Given the description of an element on the screen output the (x, y) to click on. 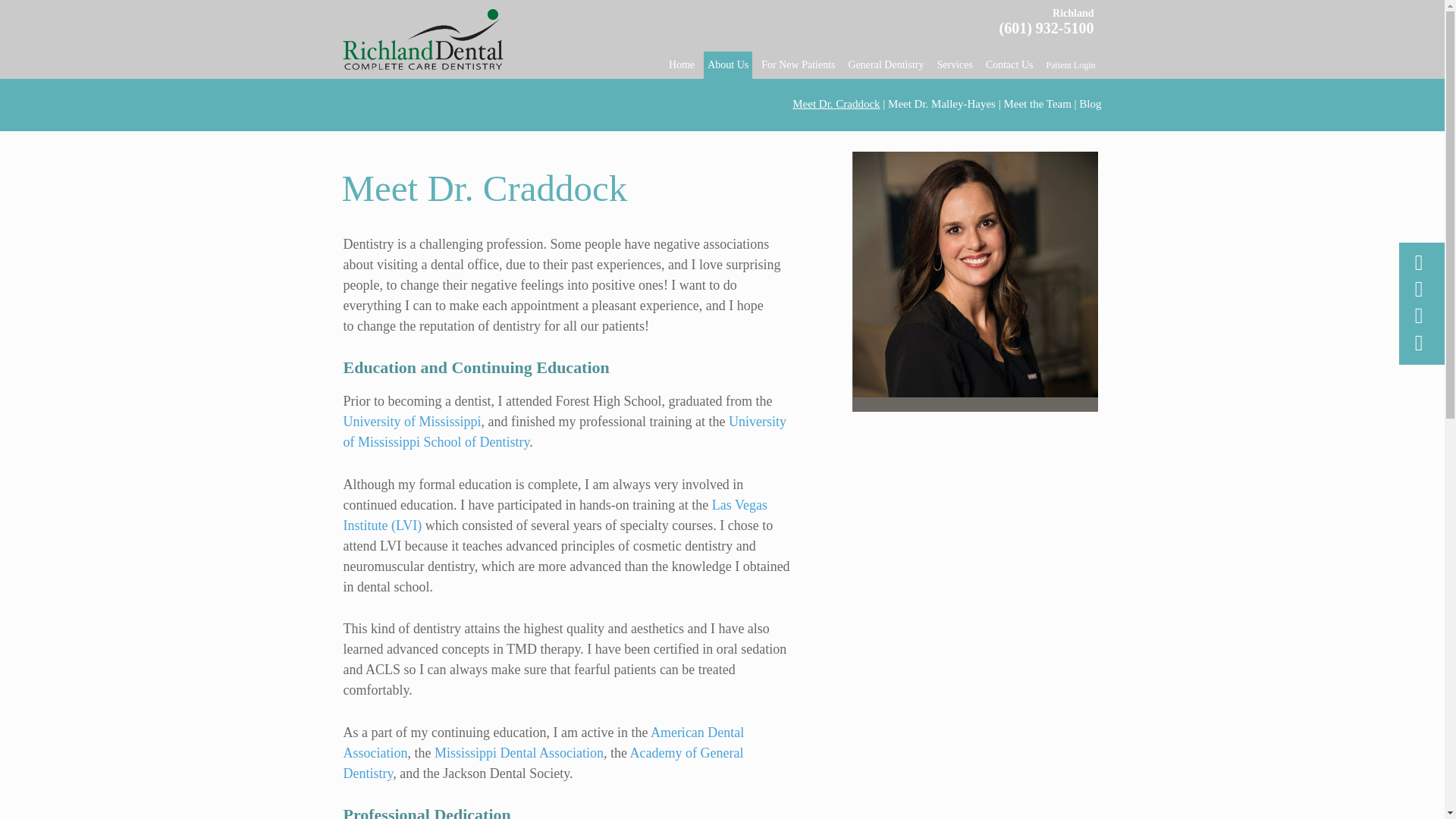
About Us (727, 64)
For New Patients (797, 64)
Home (681, 64)
General Dentistry (886, 64)
Services (954, 64)
Richland (1072, 12)
